Given the description of an element on the screen output the (x, y) to click on. 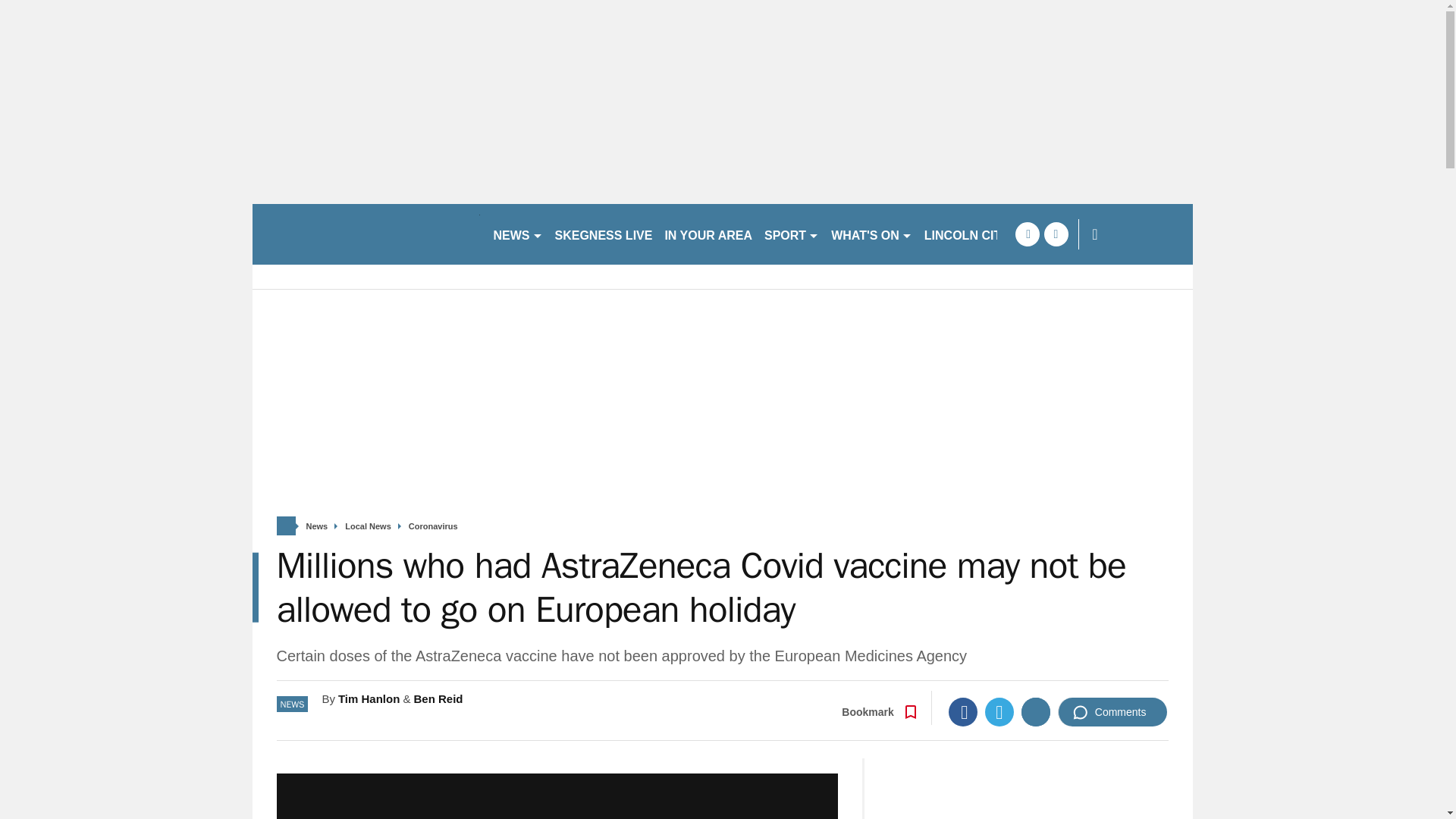
SPORT (791, 233)
IN YOUR AREA (708, 233)
WHAT'S ON (871, 233)
LINCOLN CITY FC (975, 233)
Twitter (999, 711)
lincolnshirelive (365, 233)
Comments (1112, 711)
facebook (1026, 233)
twitter (1055, 233)
NEWS (517, 233)
SKEGNESS LIVE (603, 233)
Facebook (962, 711)
